Given the description of an element on the screen output the (x, y) to click on. 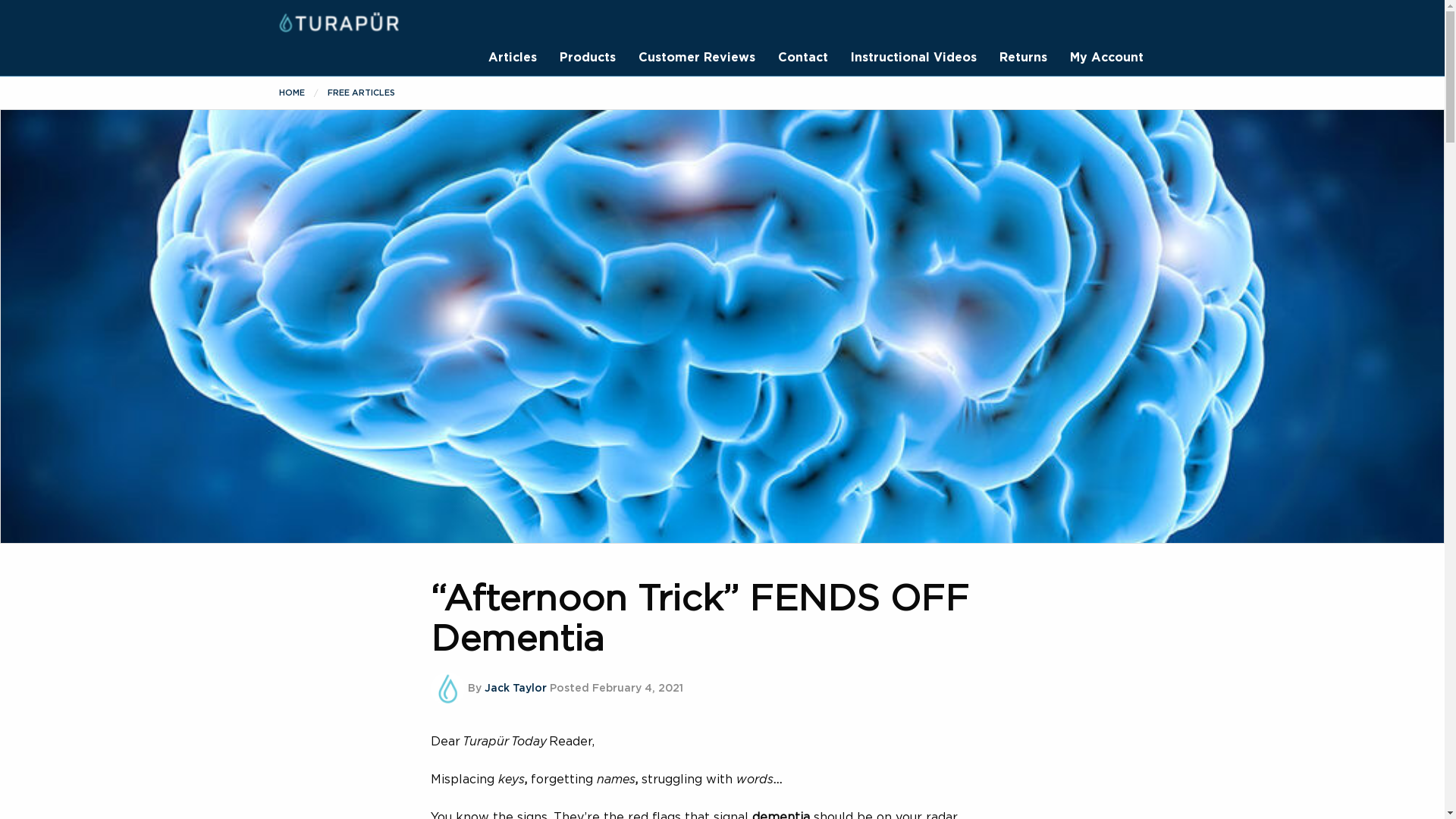
Returns (1022, 57)
Instructional Videos (913, 57)
HOME (291, 92)
Contact (802, 57)
My Account (1105, 57)
Articles (512, 57)
Products (587, 57)
Jack Taylor (514, 688)
Customer Reviews (697, 57)
FREE ARTICLES (360, 92)
